Given the description of an element on the screen output the (x, y) to click on. 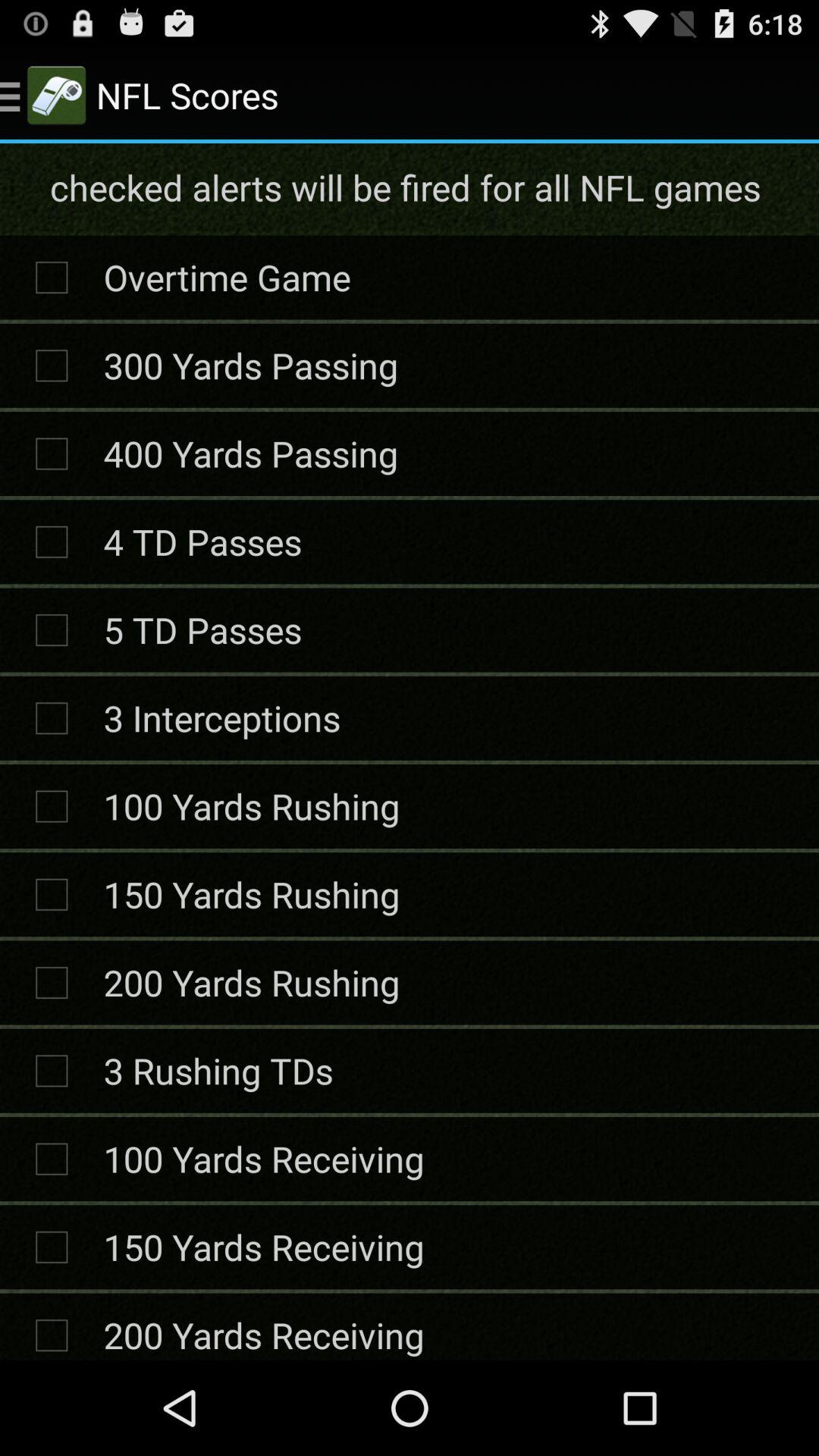
scroll to 3 rushing tds item (218, 1070)
